Given the description of an element on the screen output the (x, y) to click on. 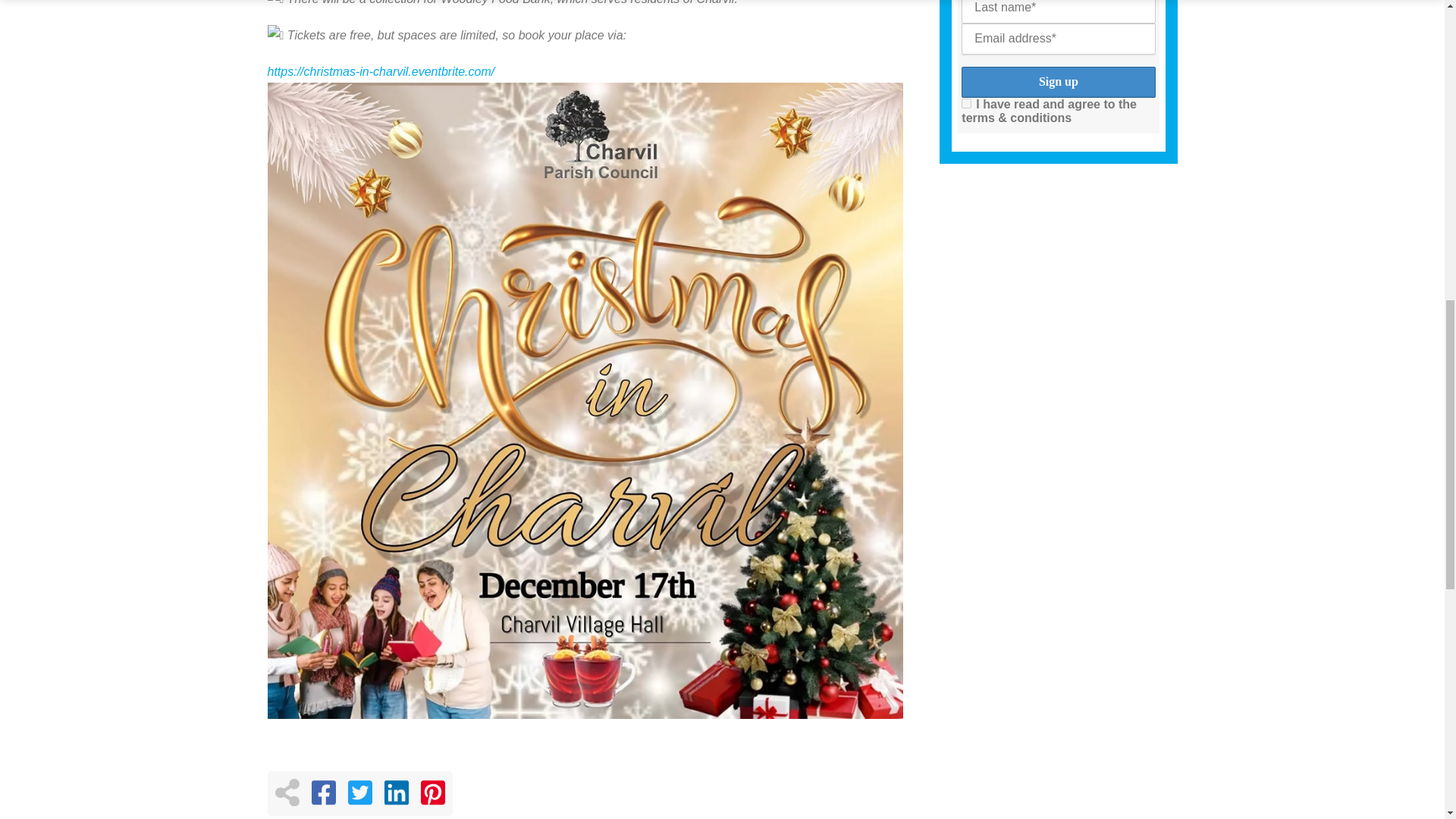
Sign up (1057, 81)
Sign up (1057, 81)
1 (965, 103)
